Given the description of an element on the screen output the (x, y) to click on. 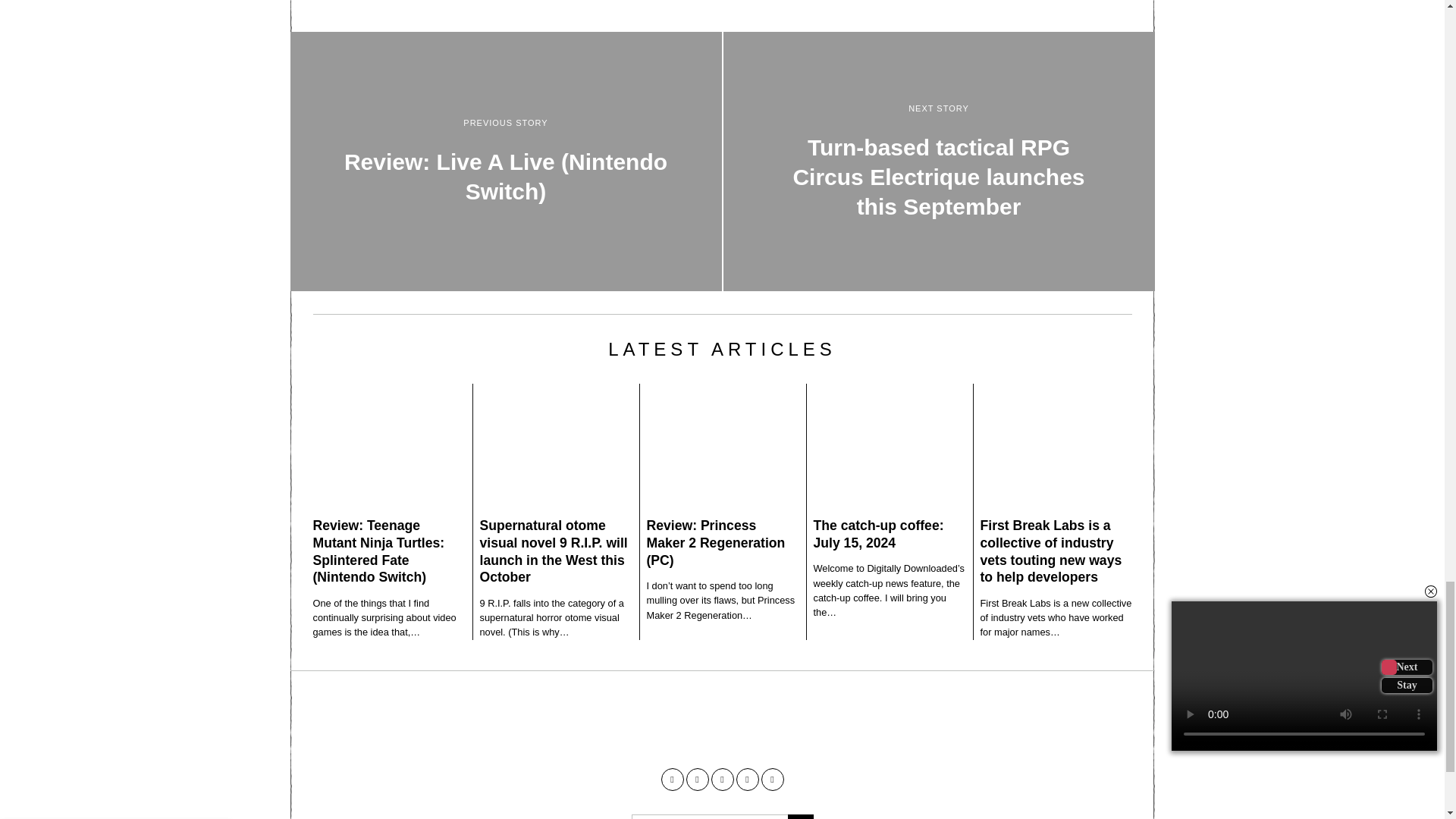
Patreon (746, 779)
Go (799, 816)
Facebook (672, 779)
itch.io (722, 779)
YouTube (696, 779)
Discord (772, 779)
